Given the description of an element on the screen output the (x, y) to click on. 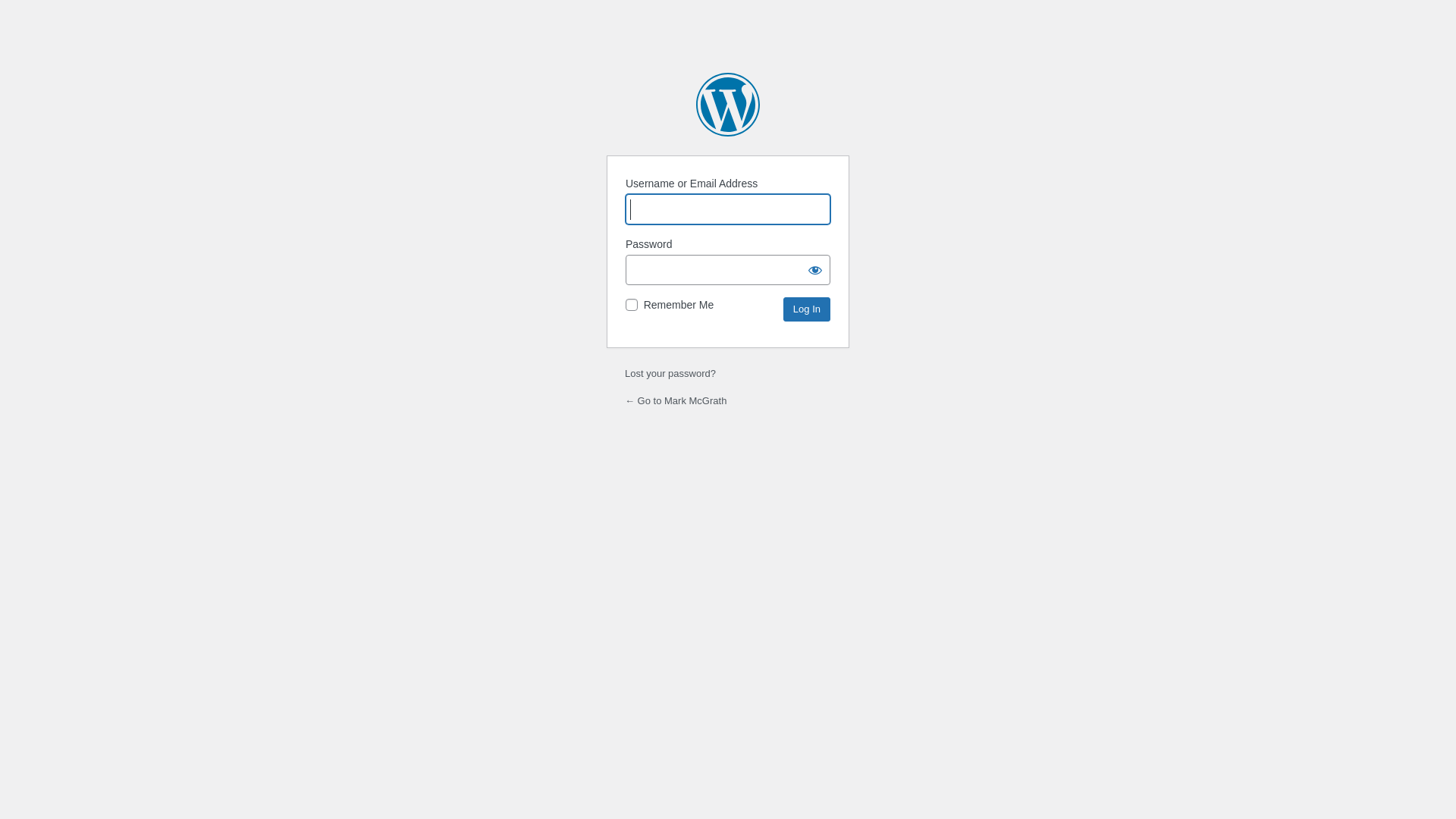
Lost your password? Element type: text (669, 373)
Powered by WordPress Element type: text (727, 104)
Log In Element type: text (806, 309)
